Given the description of an element on the screen output the (x, y) to click on. 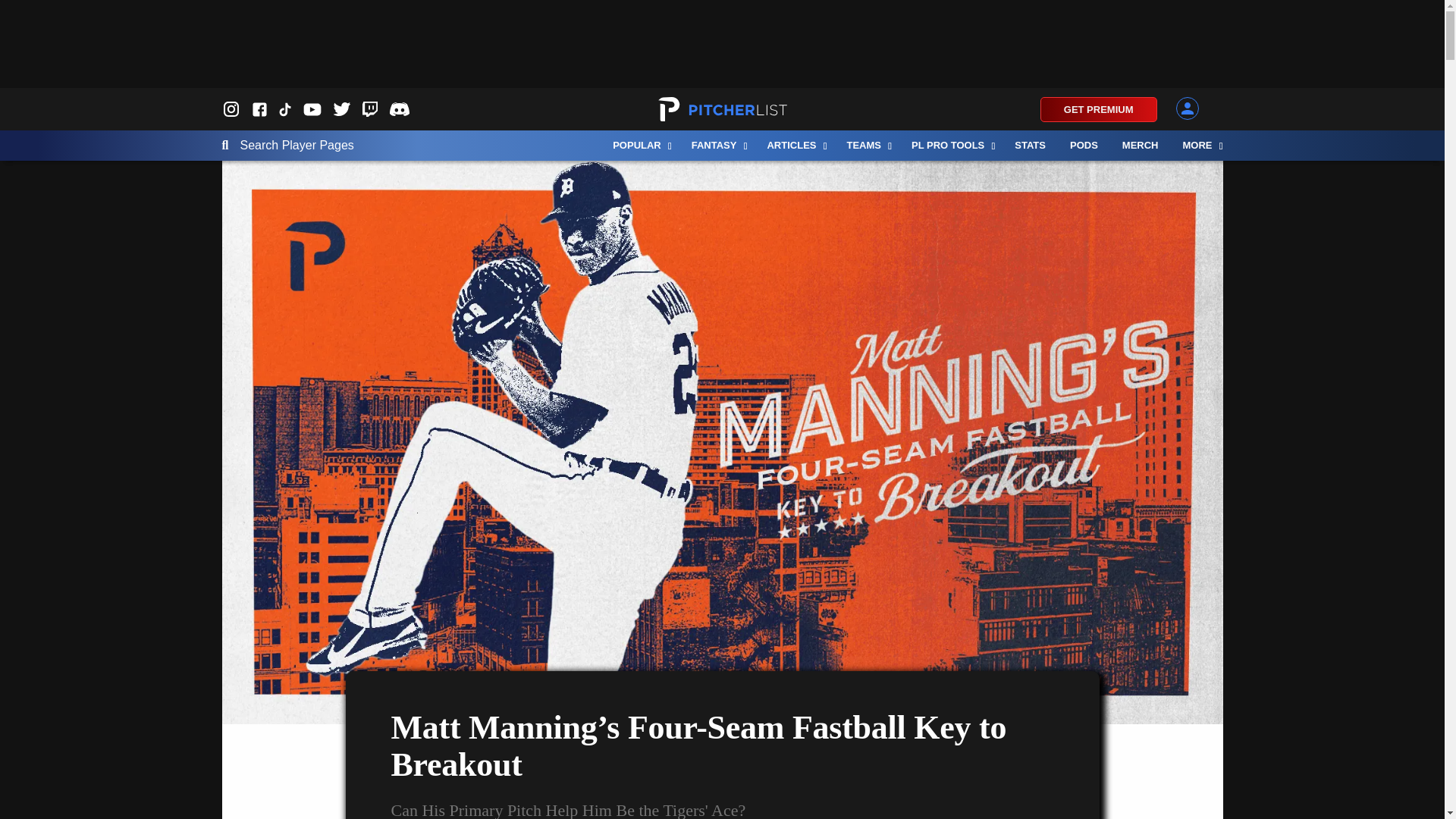
FANTASY (717, 145)
GET PREMIUM (1099, 109)
